Given the description of an element on the screen output the (x, y) to click on. 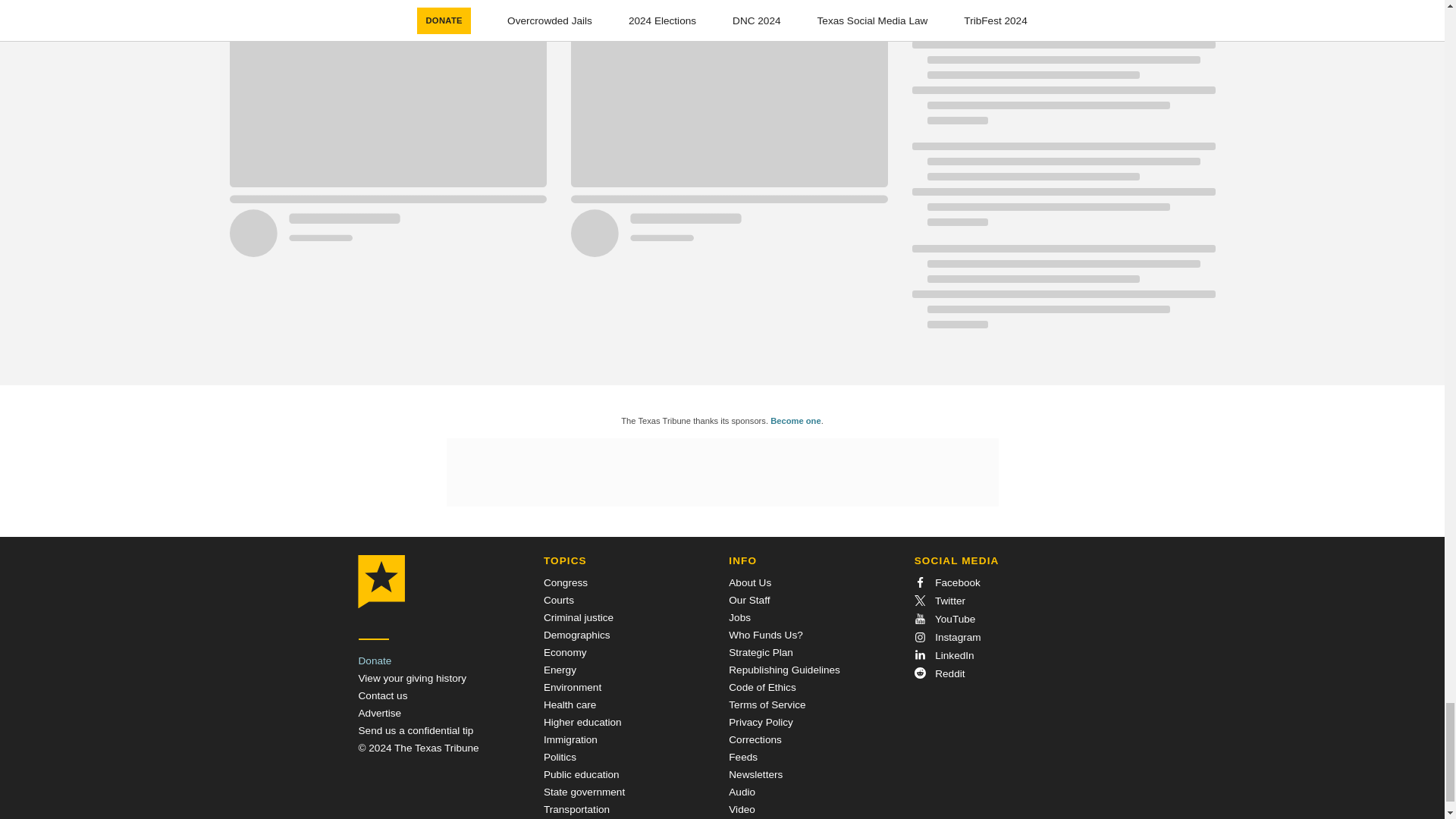
Loading indicator (557, 12)
About Us (750, 582)
Who Funds Us? (765, 634)
Newsletters (756, 774)
Audio (742, 791)
Send a Tip (415, 730)
Republishing Guidelines (784, 669)
Strategic Plan (761, 652)
Terms of Service (767, 704)
View your giving history (411, 677)
